Given the description of an element on the screen output the (x, y) to click on. 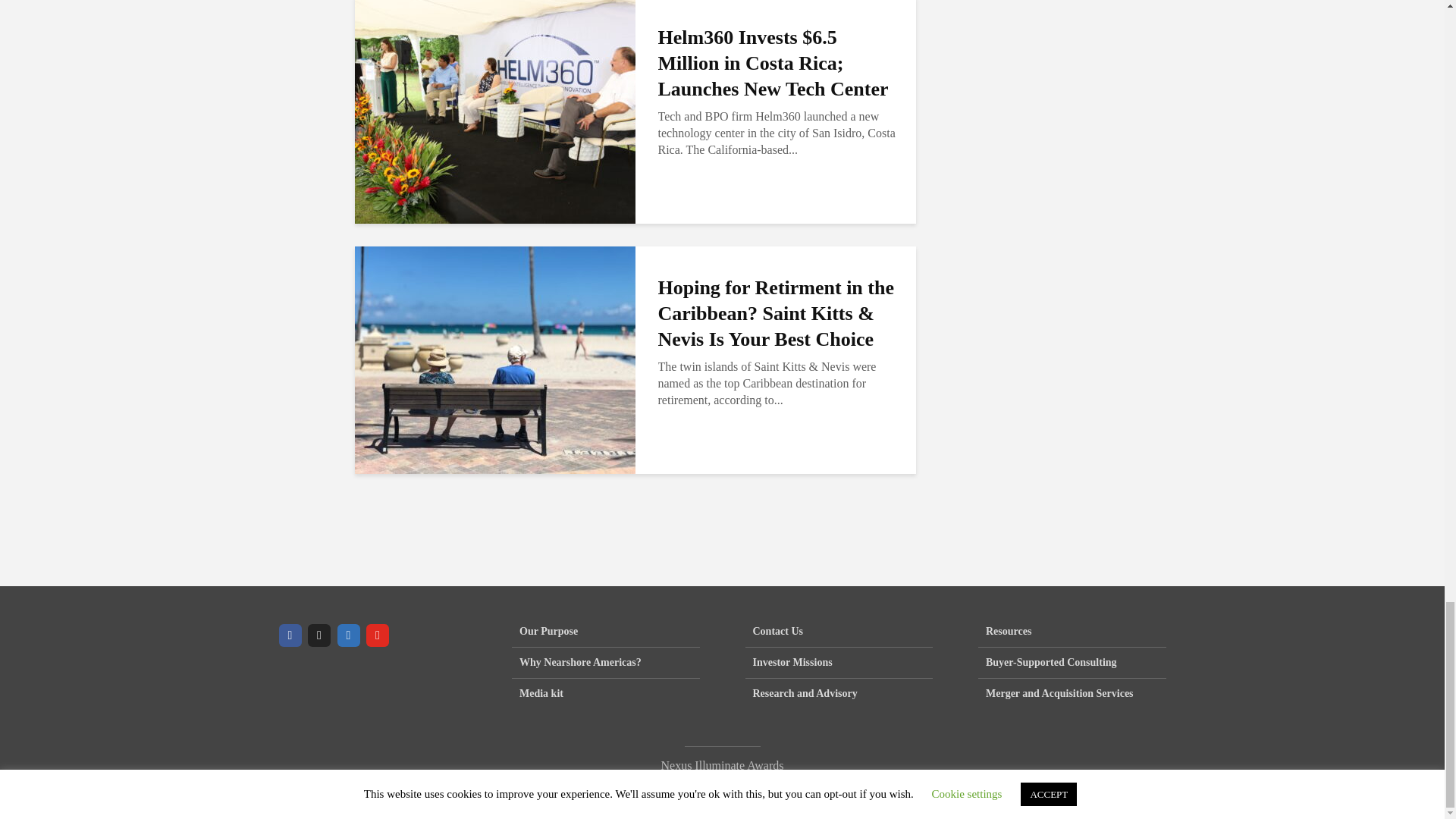
YouTube (377, 635)
Linkedin (347, 635)
Facebook (290, 635)
